Given the description of an element on the screen output the (x, y) to click on. 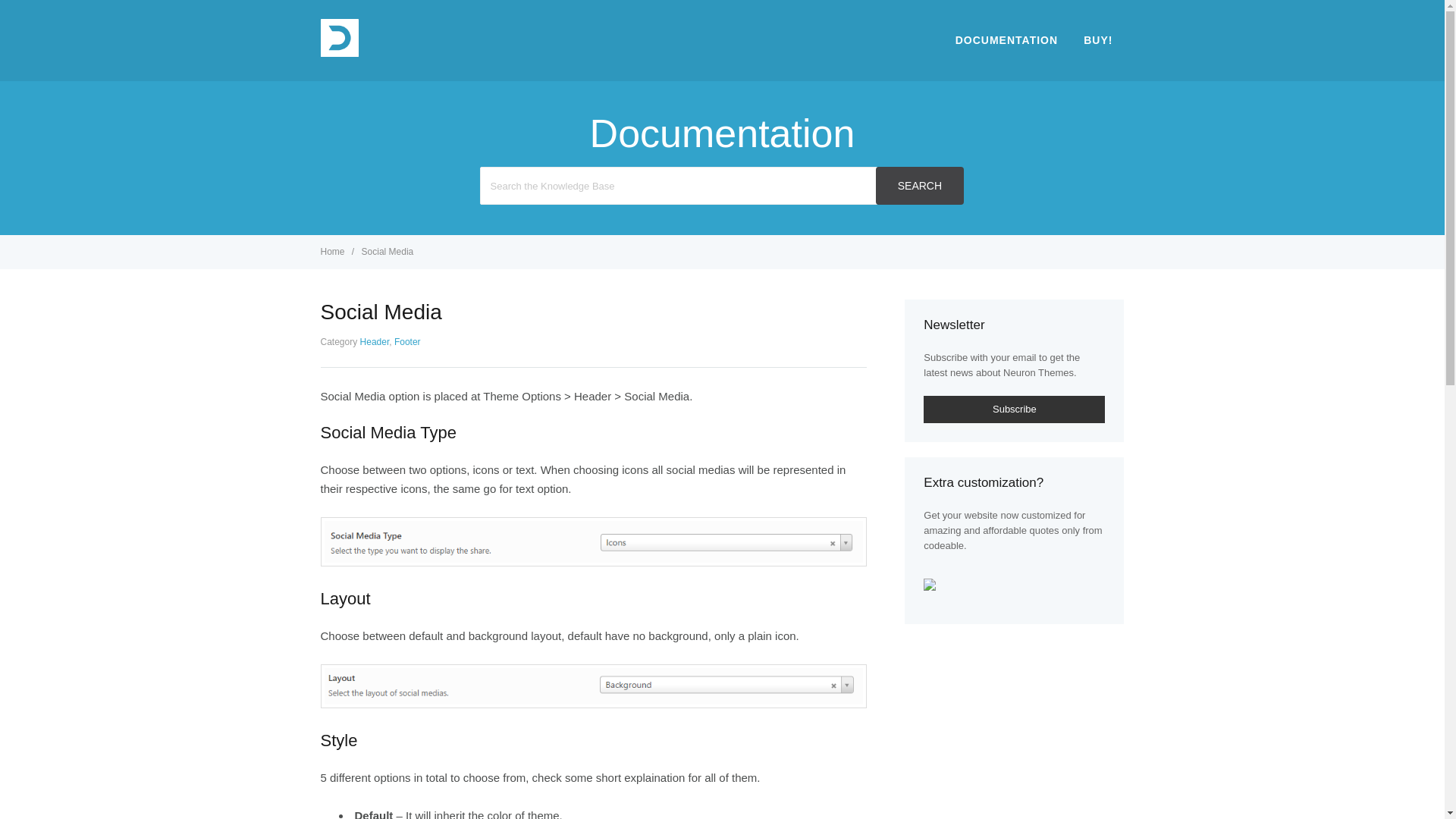
Subscribe (1014, 409)
Social Media (387, 251)
BUY! (1097, 39)
Home (333, 251)
DOCUMENTATION (1005, 39)
SEARCH (919, 185)
Home (333, 251)
Social Media (387, 251)
Footer (407, 341)
NeuronThemes (339, 51)
codeable (943, 545)
Header (374, 341)
